Given the description of an element on the screen output the (x, y) to click on. 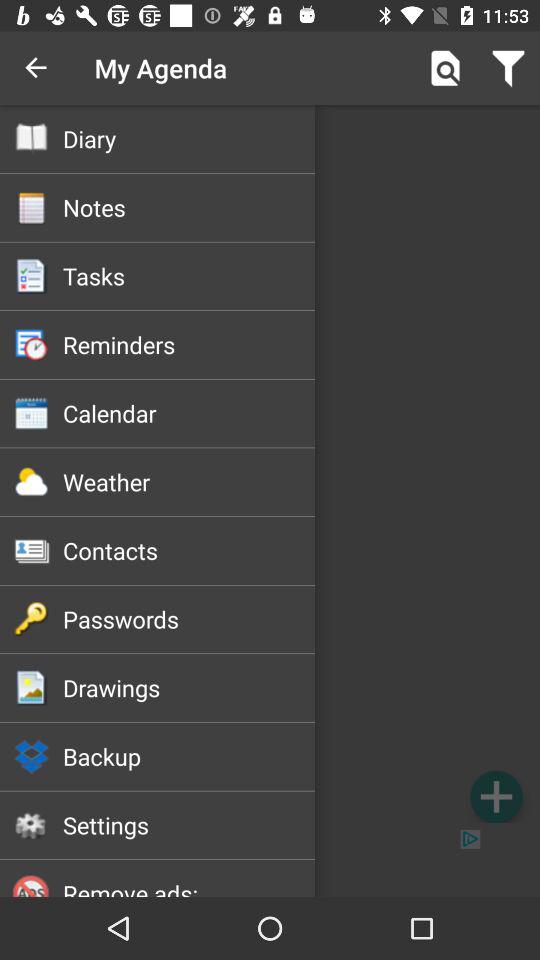
tap icon below contacts item (188, 619)
